Given the description of an element on the screen output the (x, y) to click on. 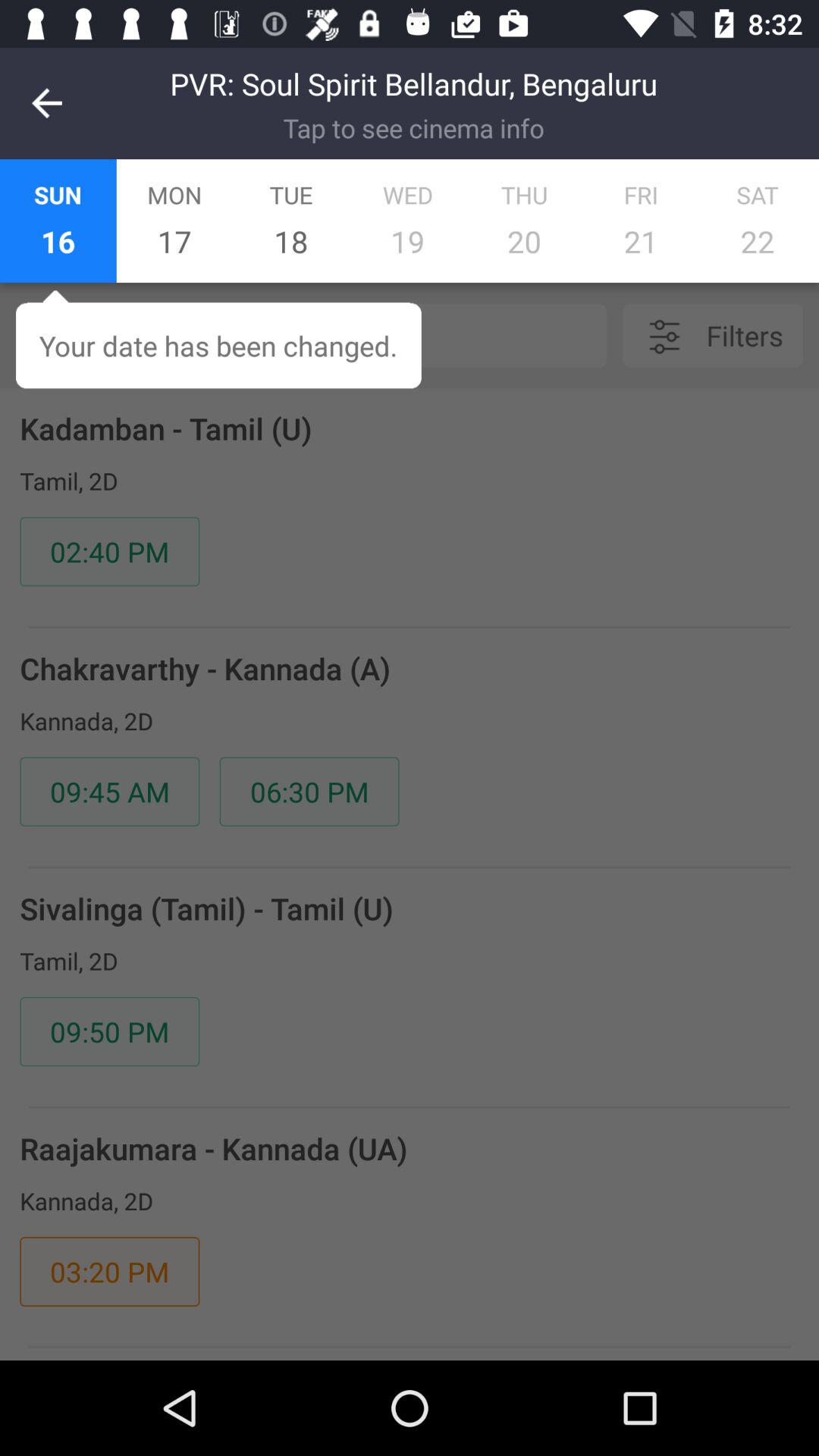
turn on the icon below the 16 item (347, 335)
